Given the description of an element on the screen output the (x, y) to click on. 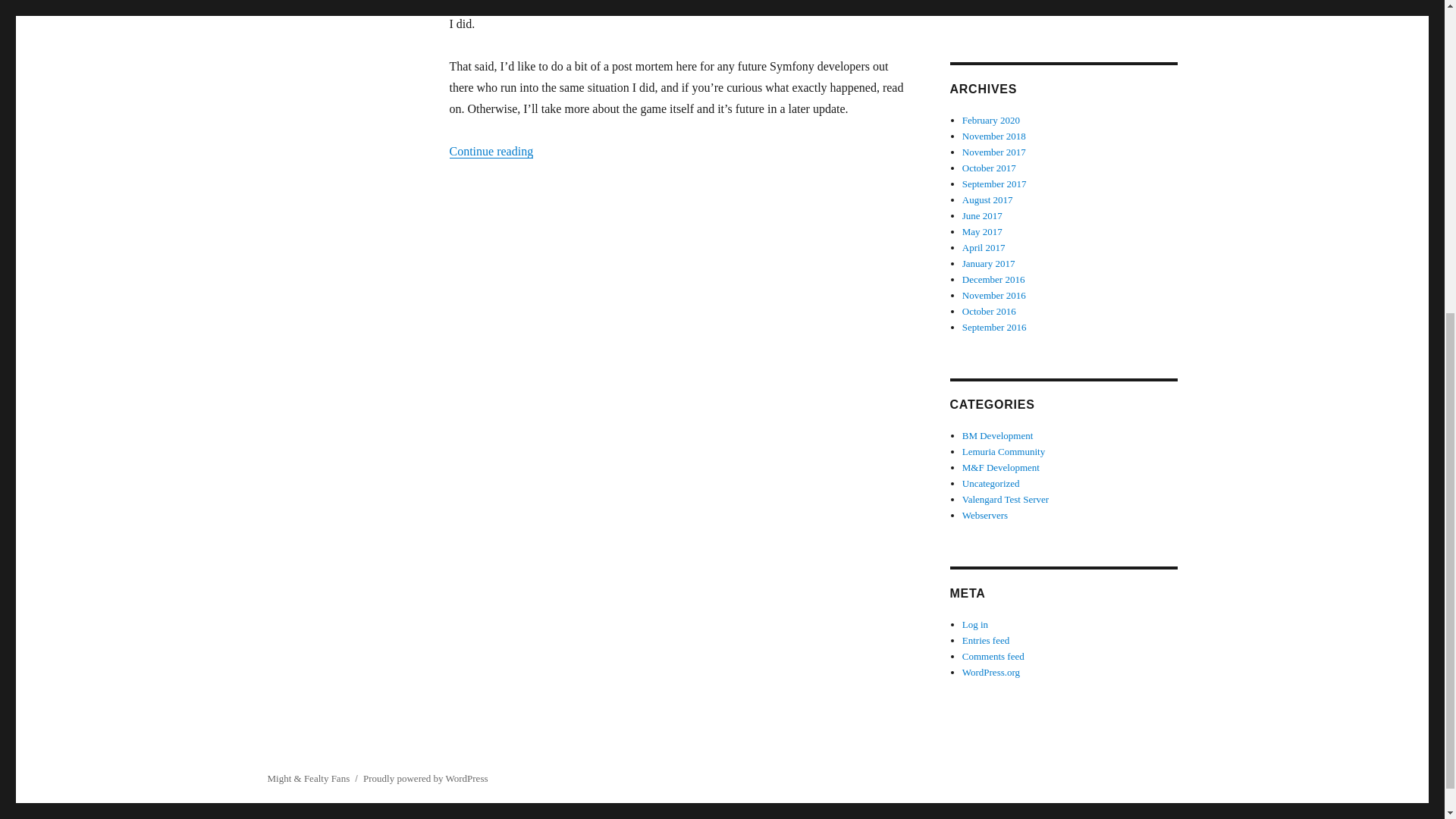
January 2017 (988, 263)
December 2016 (993, 279)
November 2017 (994, 152)
September 2017 (994, 183)
June 2017 (982, 215)
April 2017 (984, 247)
October 2017 (989, 167)
May 2017 (982, 231)
November 2018 (994, 135)
August 2017 (987, 199)
February 2020 (991, 120)
